Given the description of an element on the screen output the (x, y) to click on. 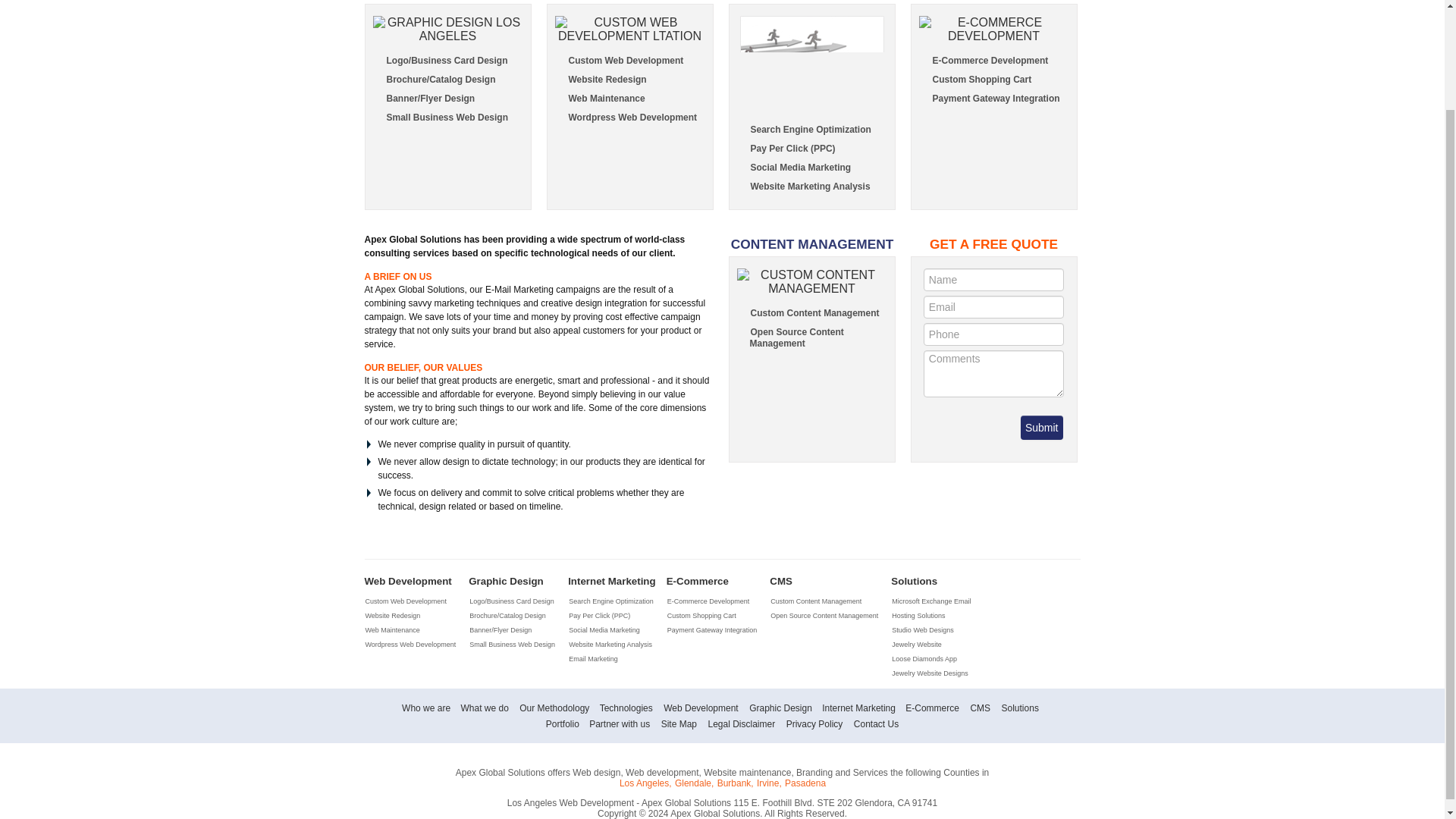
SEARCH ENGINE OPTIMIZATION LOS ANGELES (811, 63)
CUSTOM WEB DEVELOPMENT LTATION (629, 29)
E-COMMERCE DEVELOPMENT (993, 29)
CUSTOM CONTENT MANAGEMENT (811, 281)
Submit (1041, 427)
GRAPHIC DESIGN LOS ANGELES (447, 29)
